Given the description of an element on the screen output the (x, y) to click on. 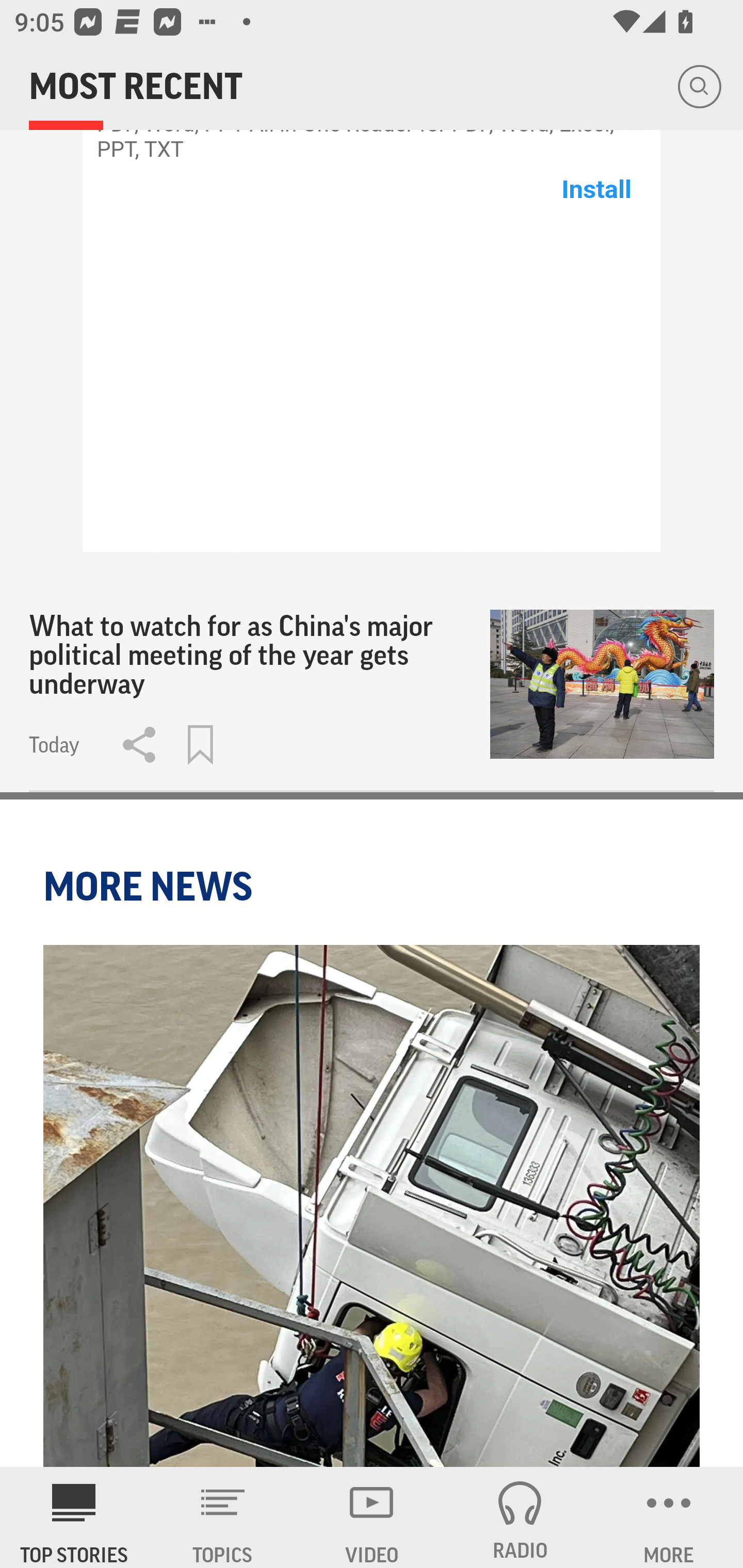
Install (595, 188)
MORE NEWS (151, 886)
AP News TOP STORIES (74, 1517)
TOPICS (222, 1517)
VIDEO (371, 1517)
RADIO (519, 1517)
MORE (668, 1517)
